Given the description of an element on the screen output the (x, y) to click on. 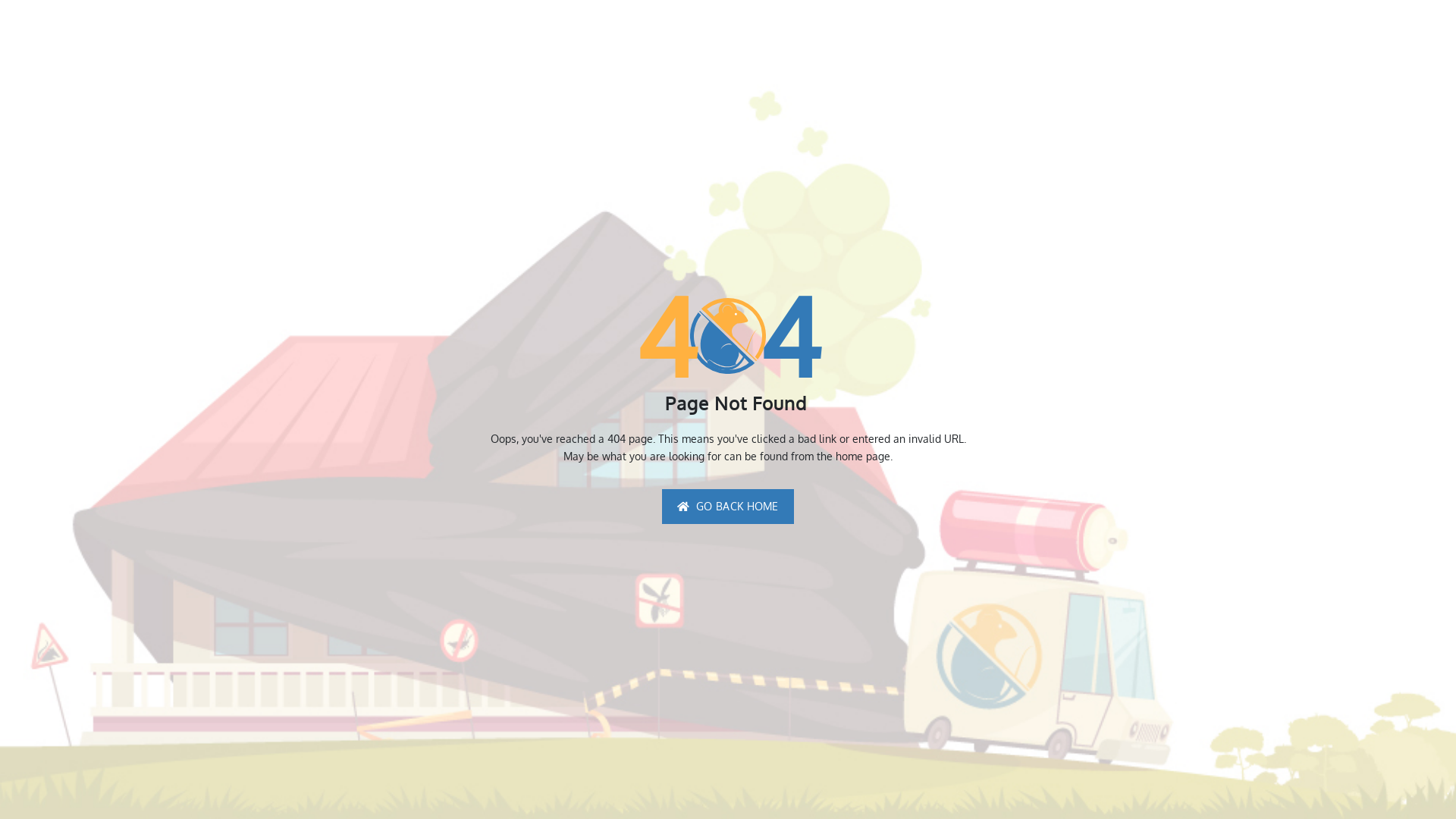
  GO BACK HOME Element type: text (727, 506)
